Given the description of an element on the screen output the (x, y) to click on. 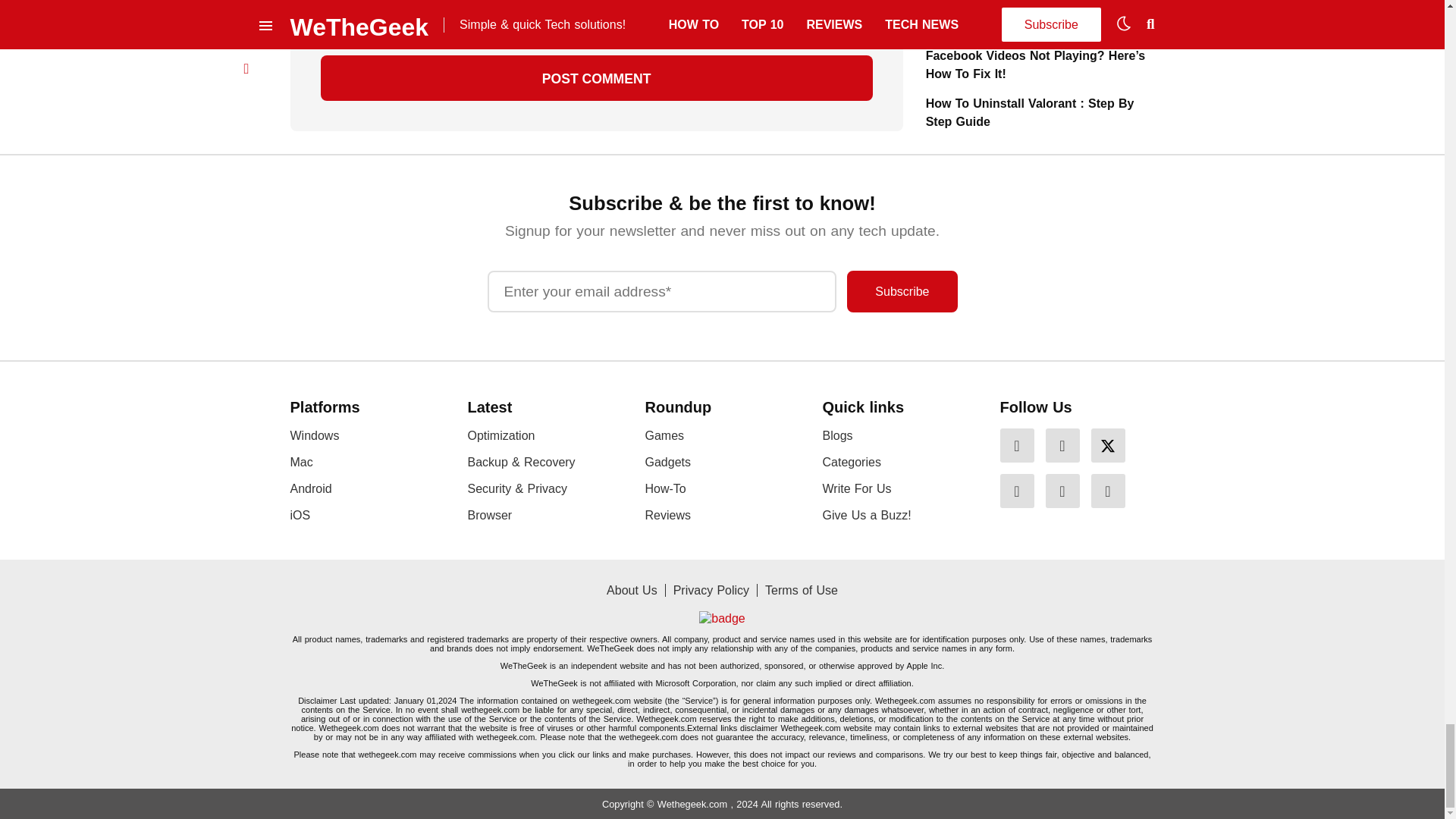
yes (325, 22)
Subscribe (901, 291)
Post Comment (596, 77)
